Given the description of an element on the screen output the (x, y) to click on. 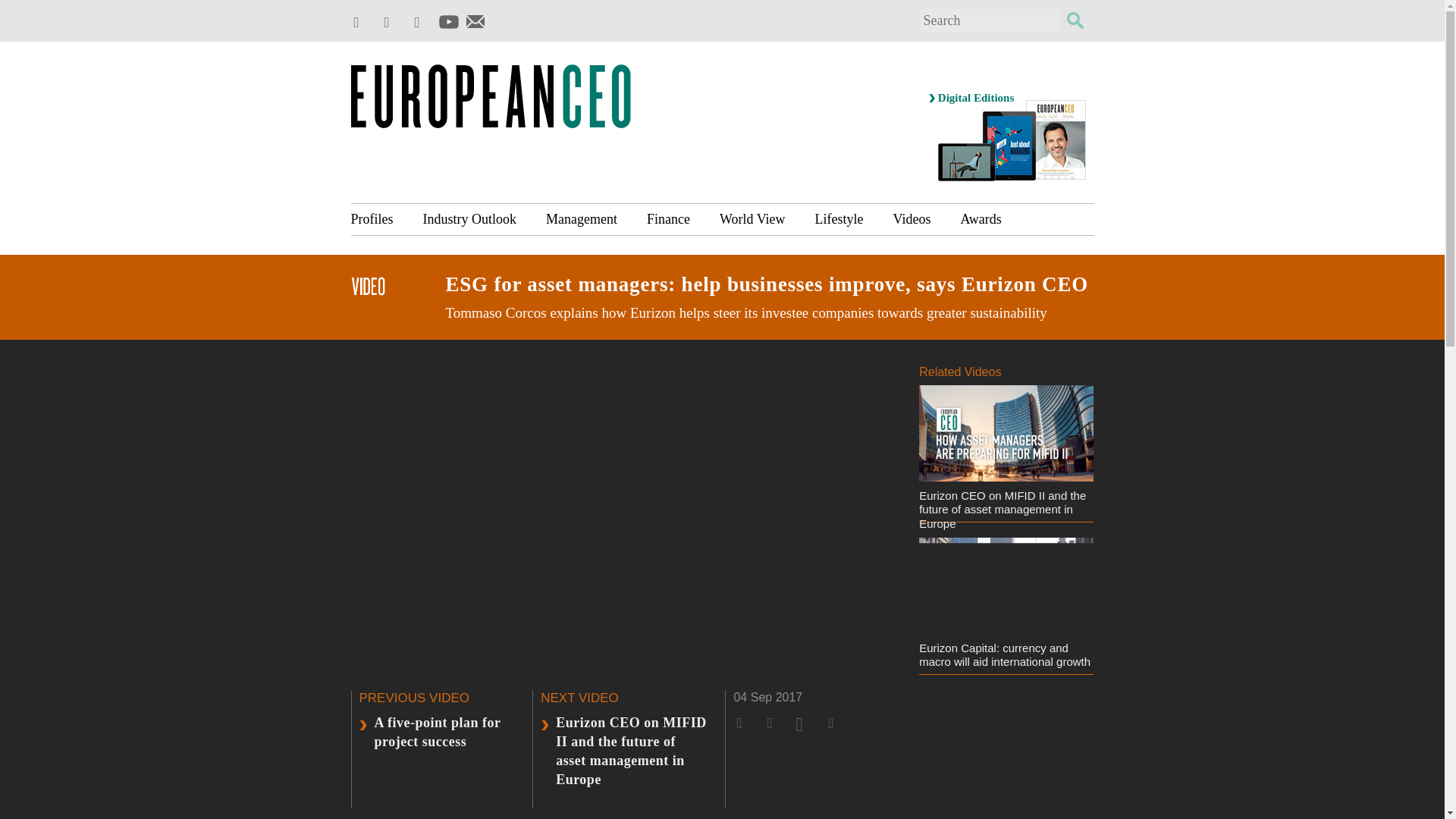
Videos (910, 219)
European CEO - Facebook (391, 22)
European CEO - Twitter (361, 22)
Profiles (378, 219)
World View (751, 219)
Management (581, 219)
Awards (980, 219)
Finance (667, 219)
Newsletter (474, 21)
Industry Outlook (469, 219)
Lifestyle (838, 219)
European CEO - YouTube (448, 21)
